Given the description of an element on the screen output the (x, y) to click on. 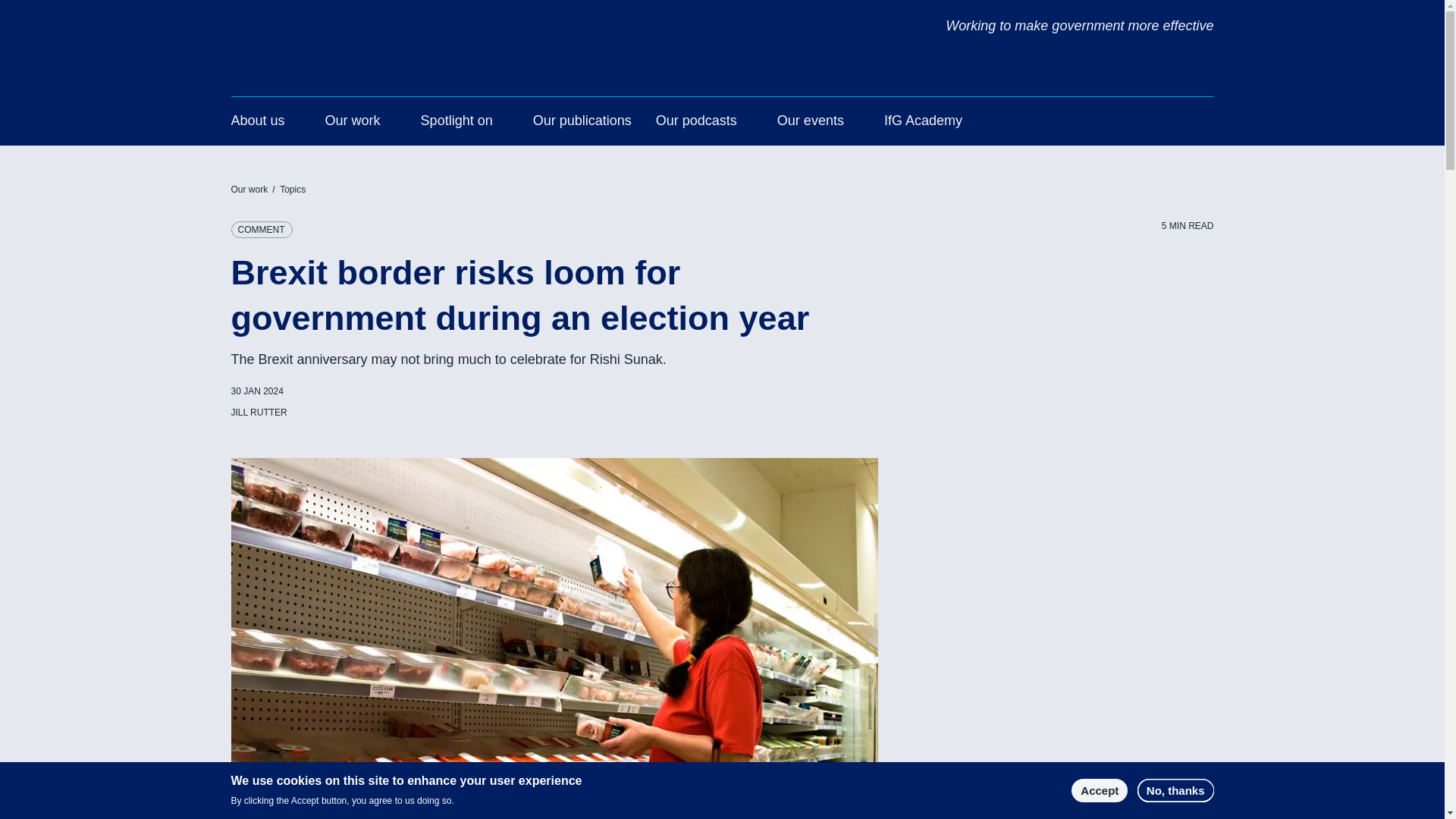
Return to the homepage (321, 29)
About us (256, 122)
Our work (352, 122)
